Given the description of an element on the screen output the (x, y) to click on. 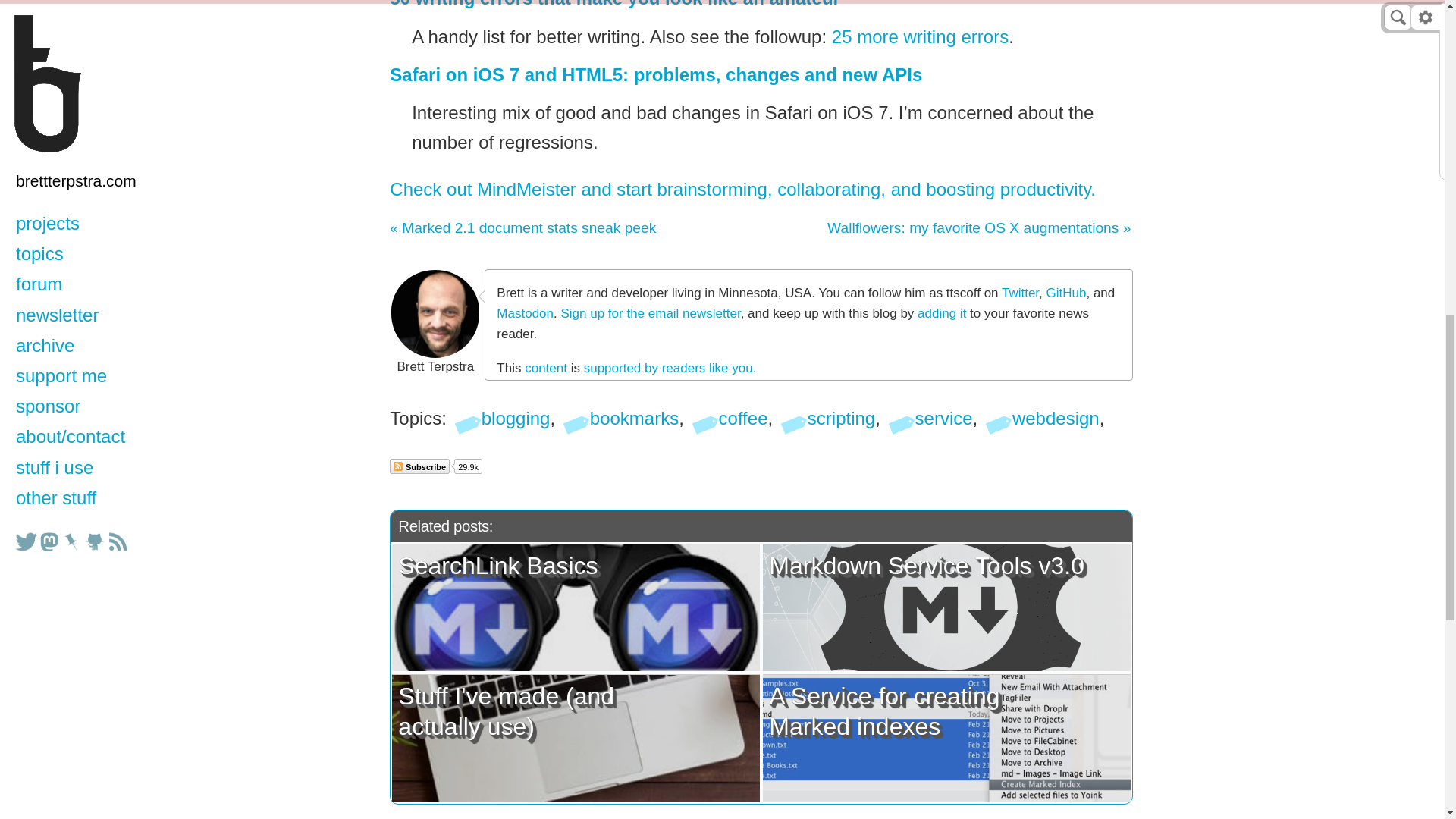
25 more writing errors (920, 36)
Marked 2.1 document stats sneak peek (523, 227)
Safari on iOS 7 and HTML5: problems, changes and new APIs (655, 74)
50 writing errors that make you look like an amateur (615, 4)
Wallflowers: my favorite OS X augmentations (979, 227)
